Given the description of an element on the screen output the (x, y) to click on. 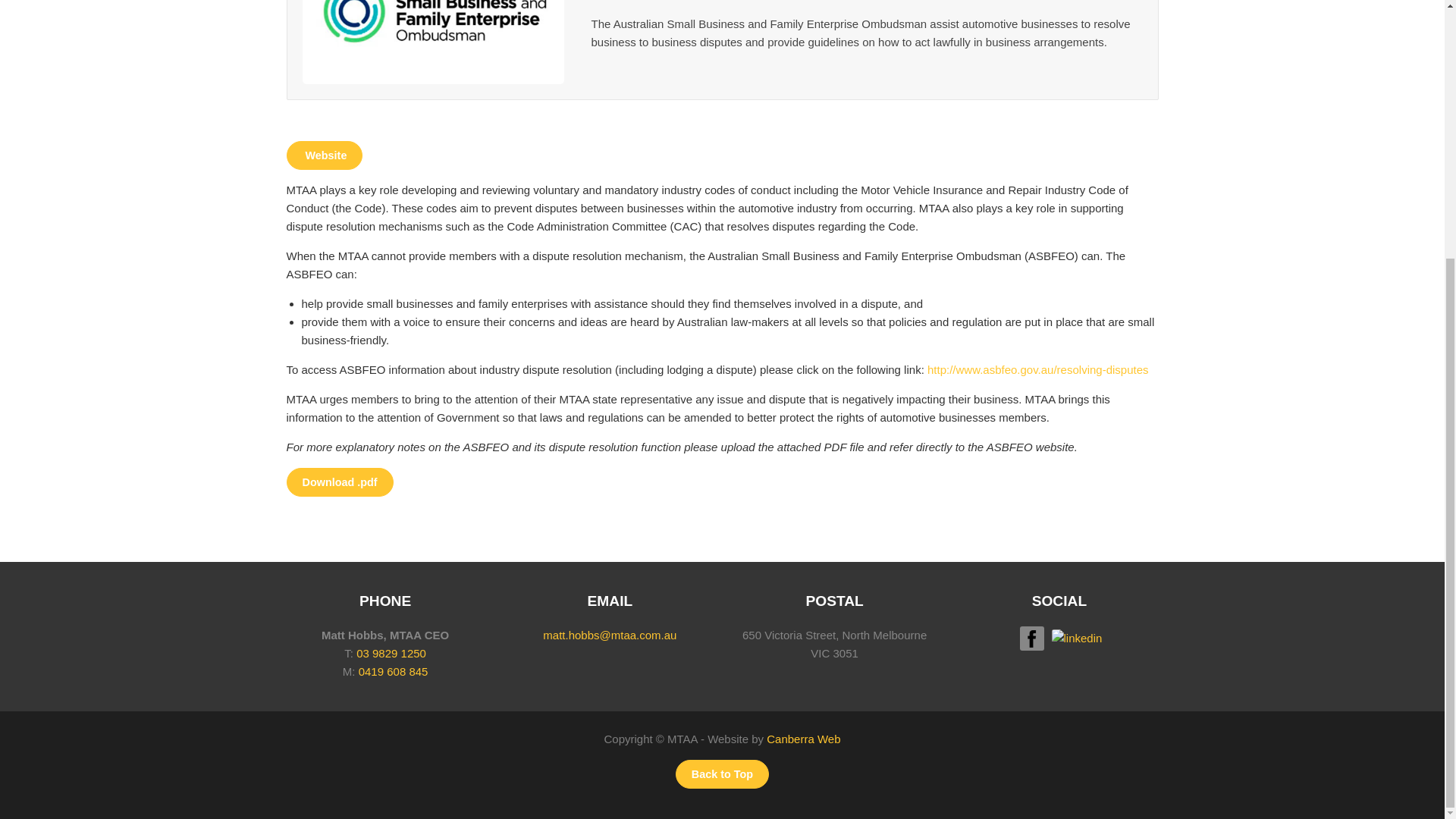
Web Design in Canberra (803, 738)
Download .pdf (339, 481)
Back to Top (721, 774)
0419 608 845 (393, 671)
 Website (324, 154)
Canberra Web (803, 738)
03 9829 1250 (391, 653)
